Given the description of an element on the screen output the (x, y) to click on. 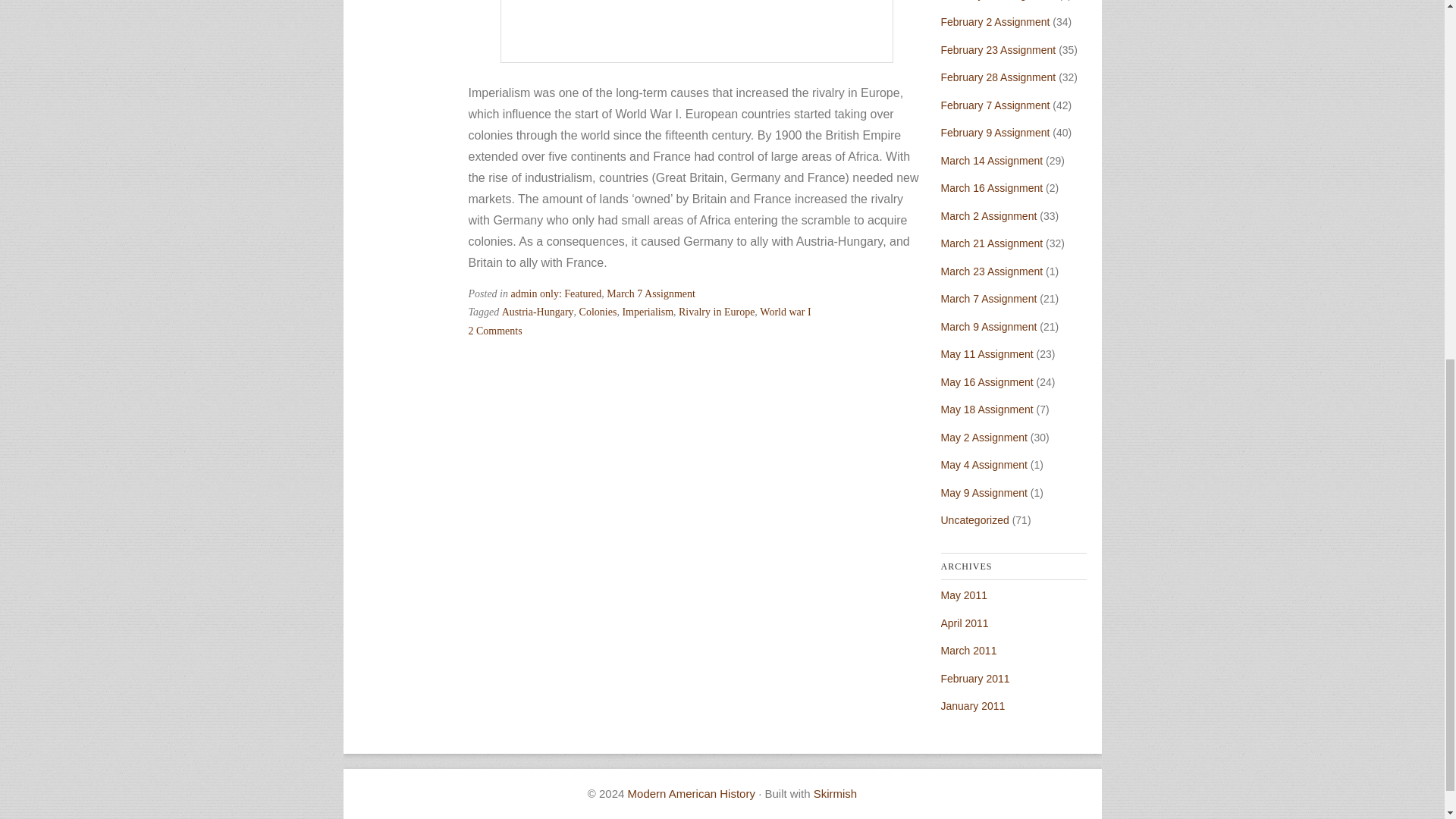
Austria-Hungary (537, 311)
March 16 Assignment (991, 187)
March 14 Assignment (991, 160)
February 7 Assignment (994, 105)
Colonies (598, 311)
February 23 Assignment (997, 50)
May 11 Assignment (986, 354)
February 2 Assignment (994, 21)
March 21 Assignment (991, 243)
